Given the description of an element on the screen output the (x, y) to click on. 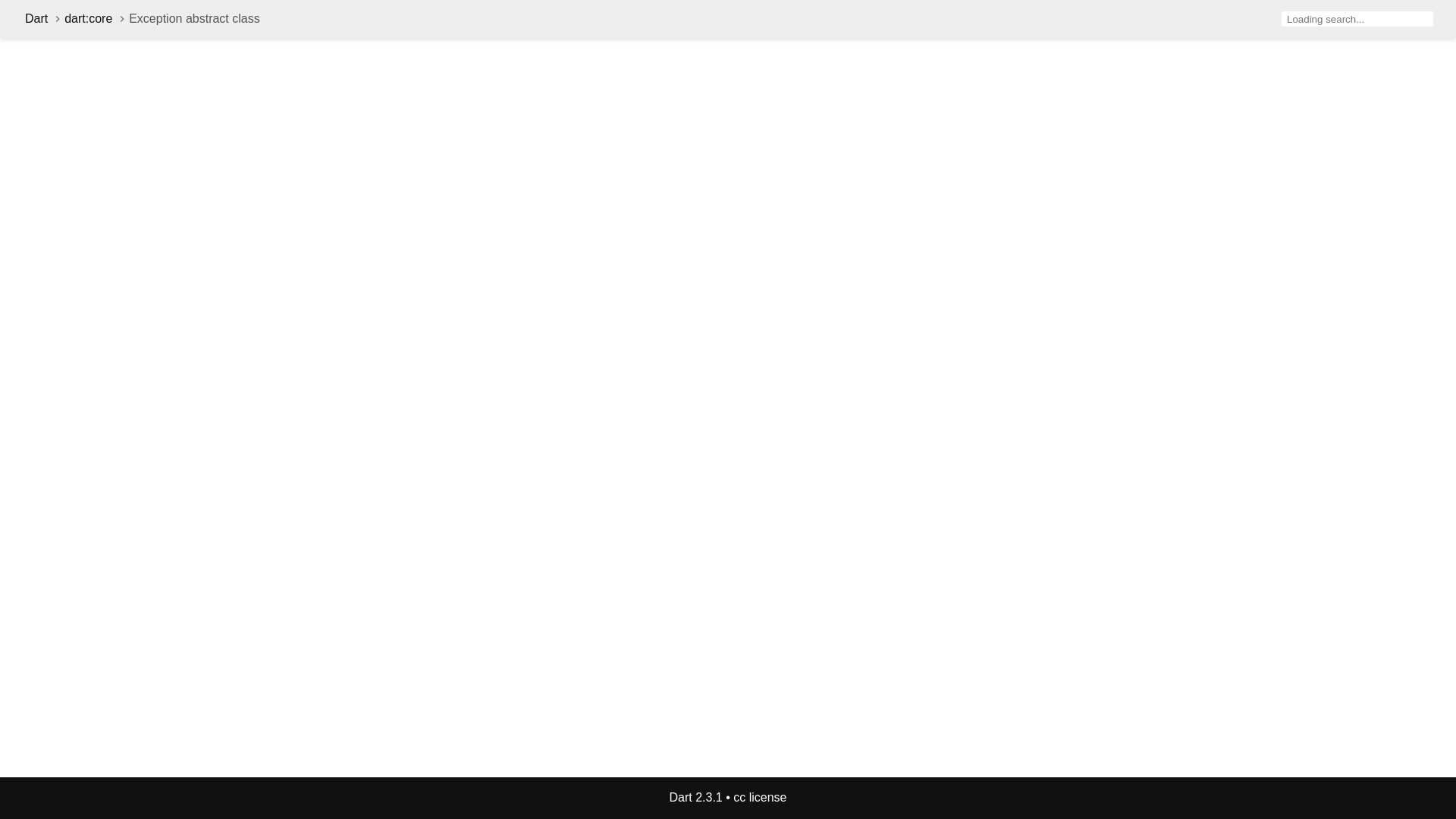
Dart (36, 18)
dart:core (88, 18)
